Given the description of an element on the screen output the (x, y) to click on. 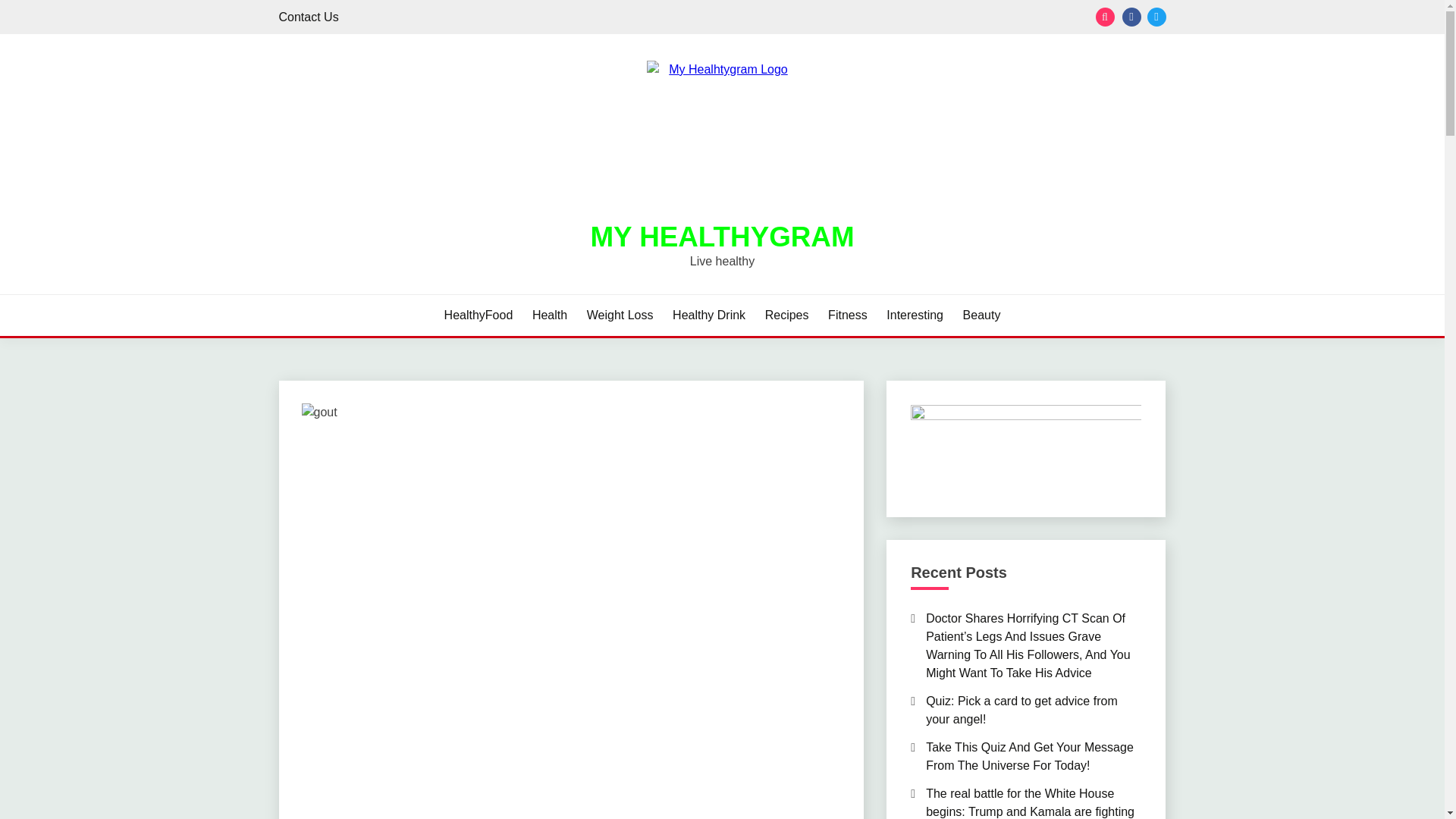
Health (549, 315)
Fitness (847, 315)
Healthy Drink (708, 315)
Facebook (1131, 16)
HealthyFood (478, 315)
Search (832, 18)
Twitter (1156, 16)
Interesting (914, 315)
Contact Us (309, 16)
Recipes (787, 315)
